Given the description of an element on the screen output the (x, y) to click on. 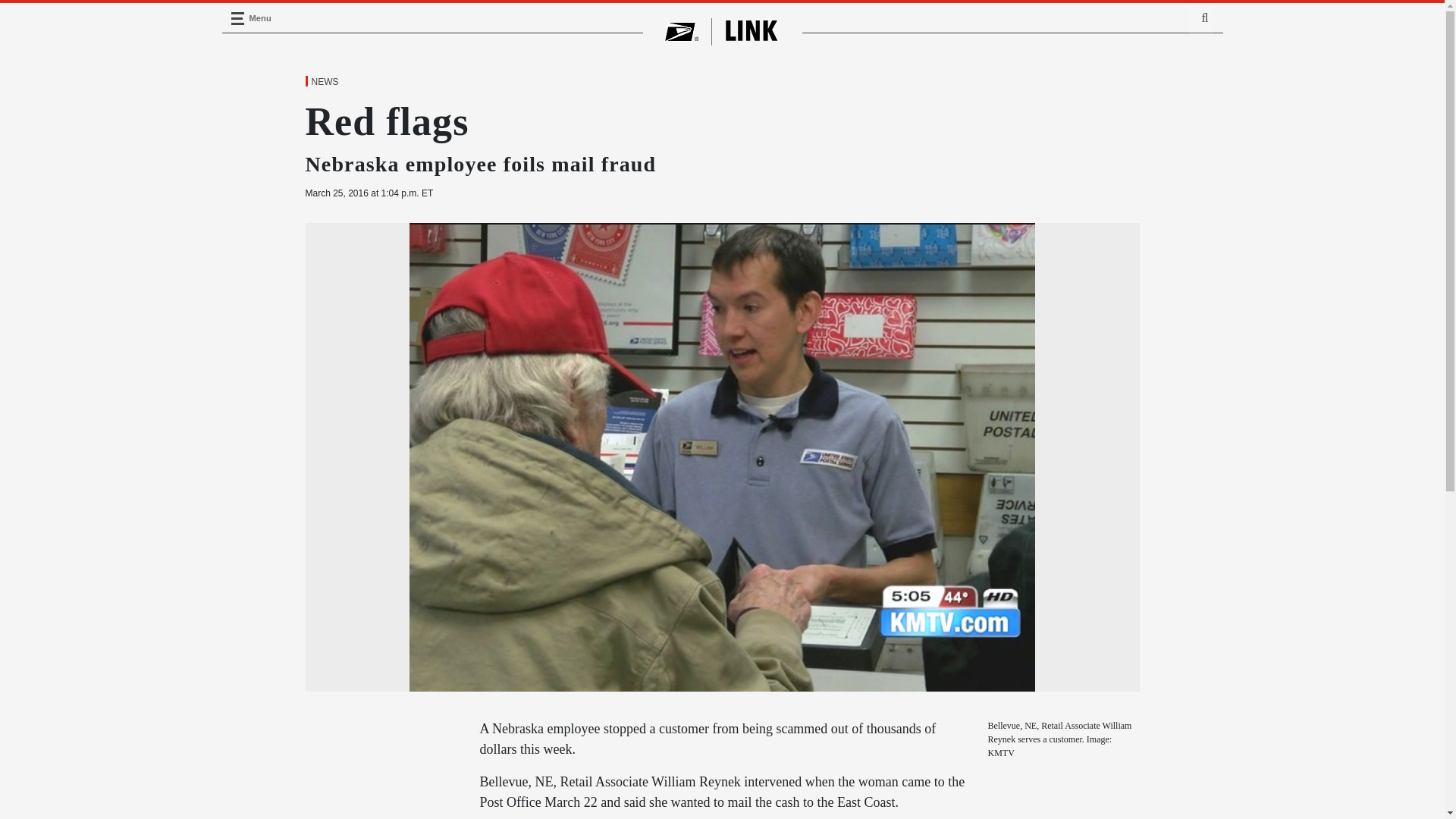
NEWS (323, 81)
Menu (237, 18)
